Given the description of an element on the screen output the (x, y) to click on. 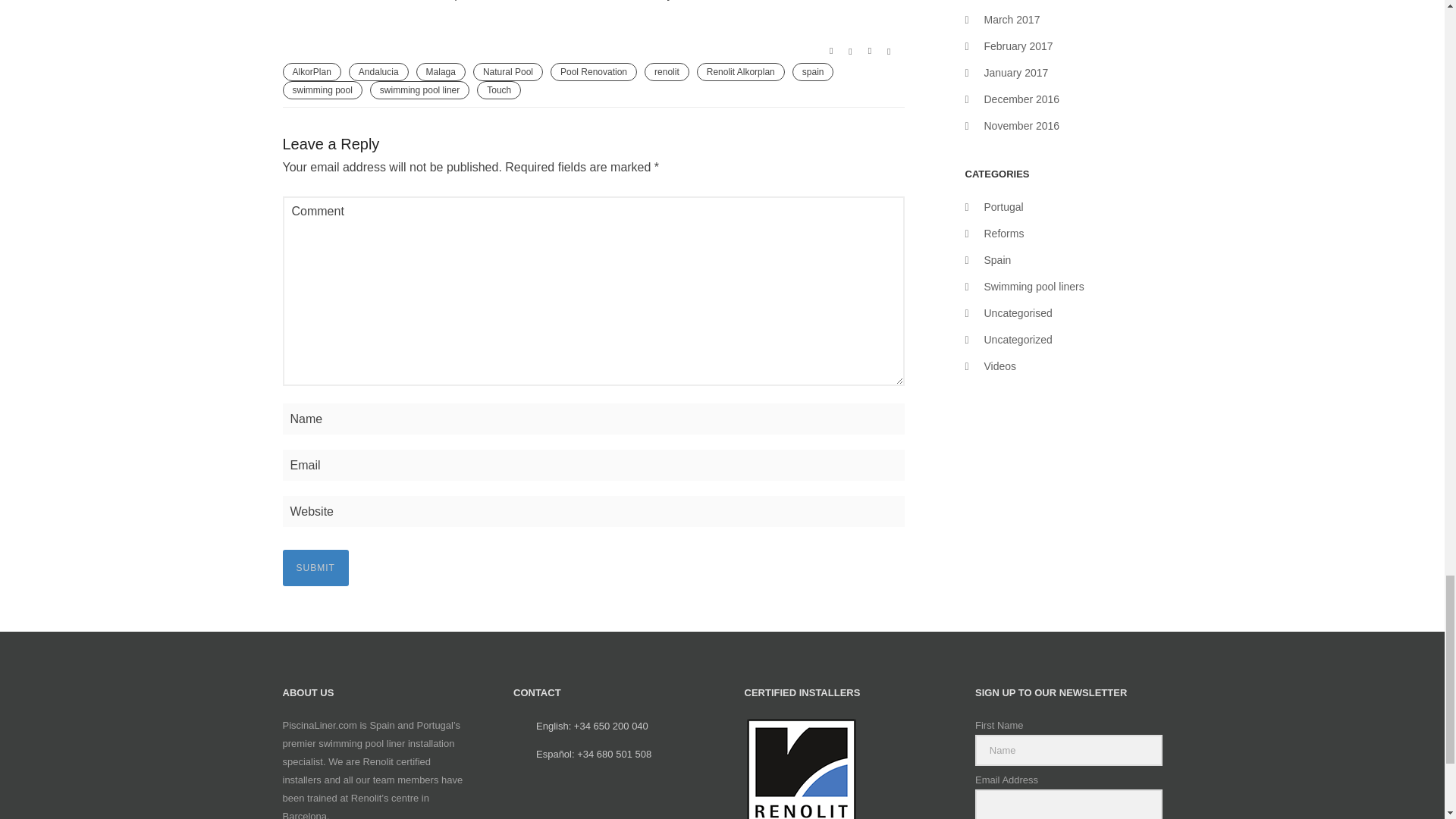
Pool Renovation (593, 72)
AlkorPlan (311, 72)
Natural Pool (508, 72)
renolit (666, 72)
swimming pool (321, 90)
spain (813, 72)
Malaga (440, 72)
Submit (314, 567)
Submit (314, 567)
Andalucia (379, 72)
